Given the description of an element on the screen output the (x, y) to click on. 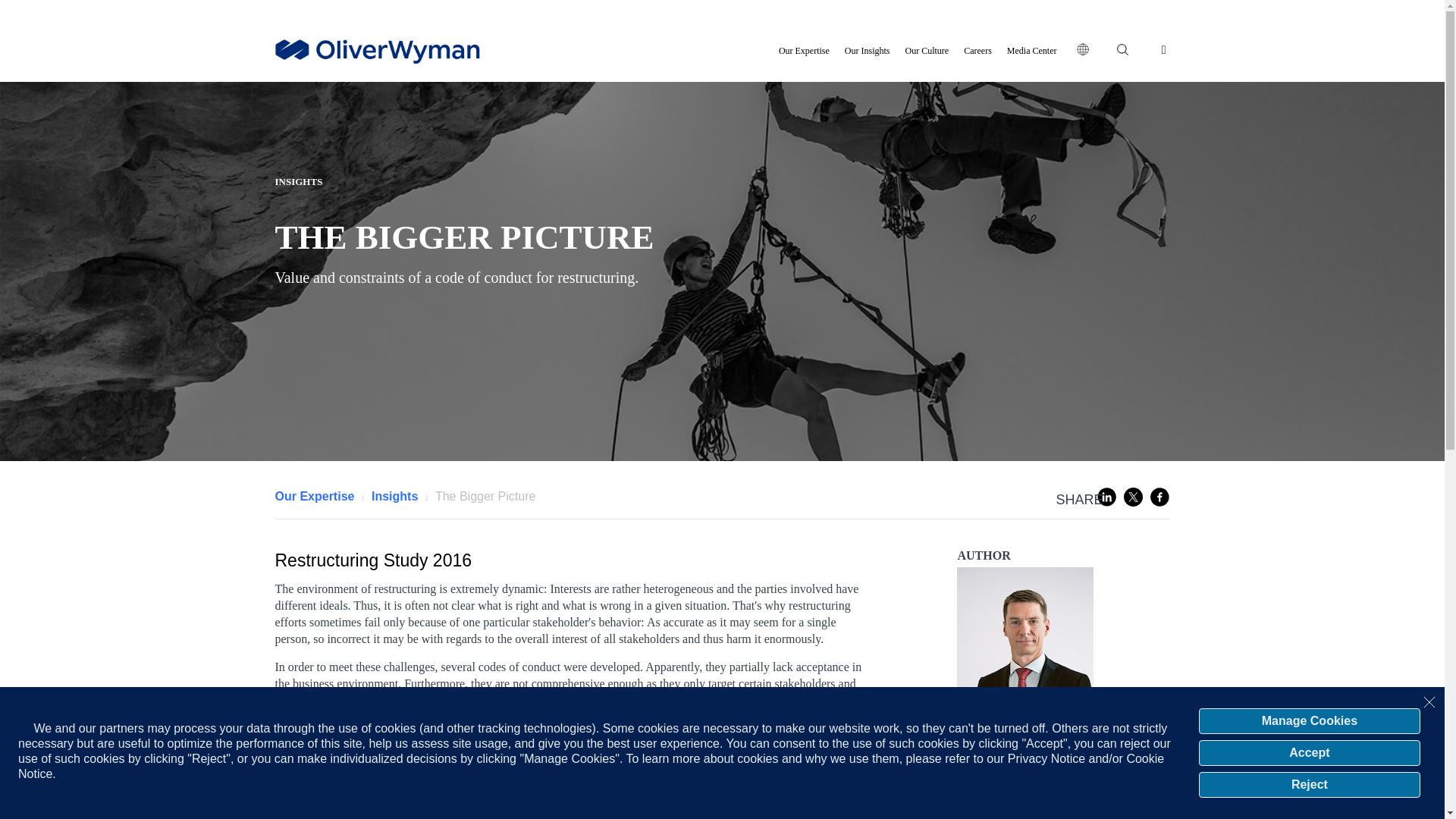
Reject (1309, 784)
Accept (1309, 752)
Manage Cookies (1309, 720)
Our Expertise (803, 50)
